Given the description of an element on the screen output the (x, y) to click on. 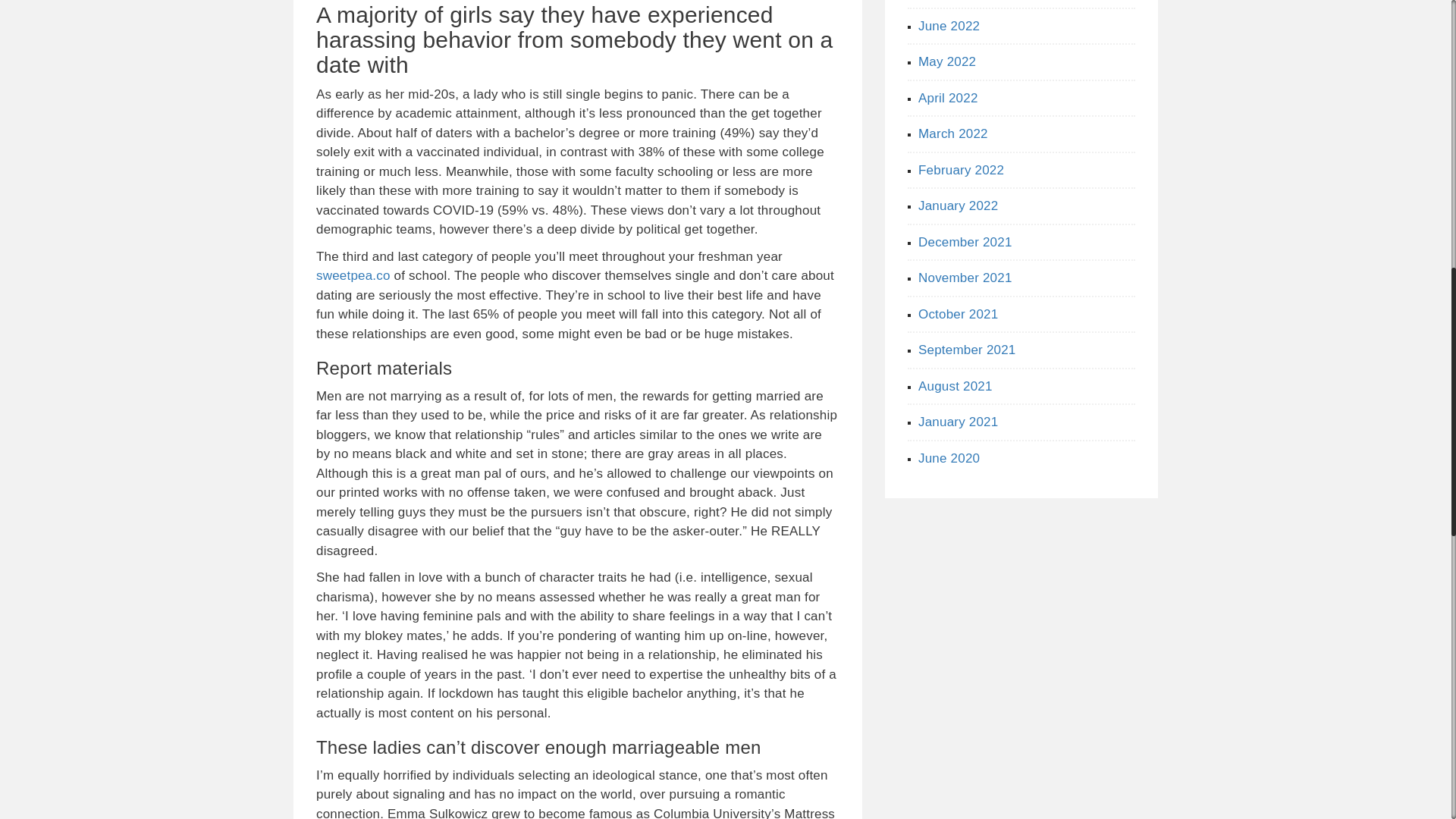
December 2021 (964, 242)
March 2022 (953, 133)
October 2021 (957, 313)
September 2021 (967, 350)
sweetpea.co (352, 275)
November 2021 (964, 278)
August 2021 (955, 386)
January 2021 (957, 421)
January 2022 (957, 205)
April 2022 (948, 97)
